Given the description of an element on the screen output the (x, y) to click on. 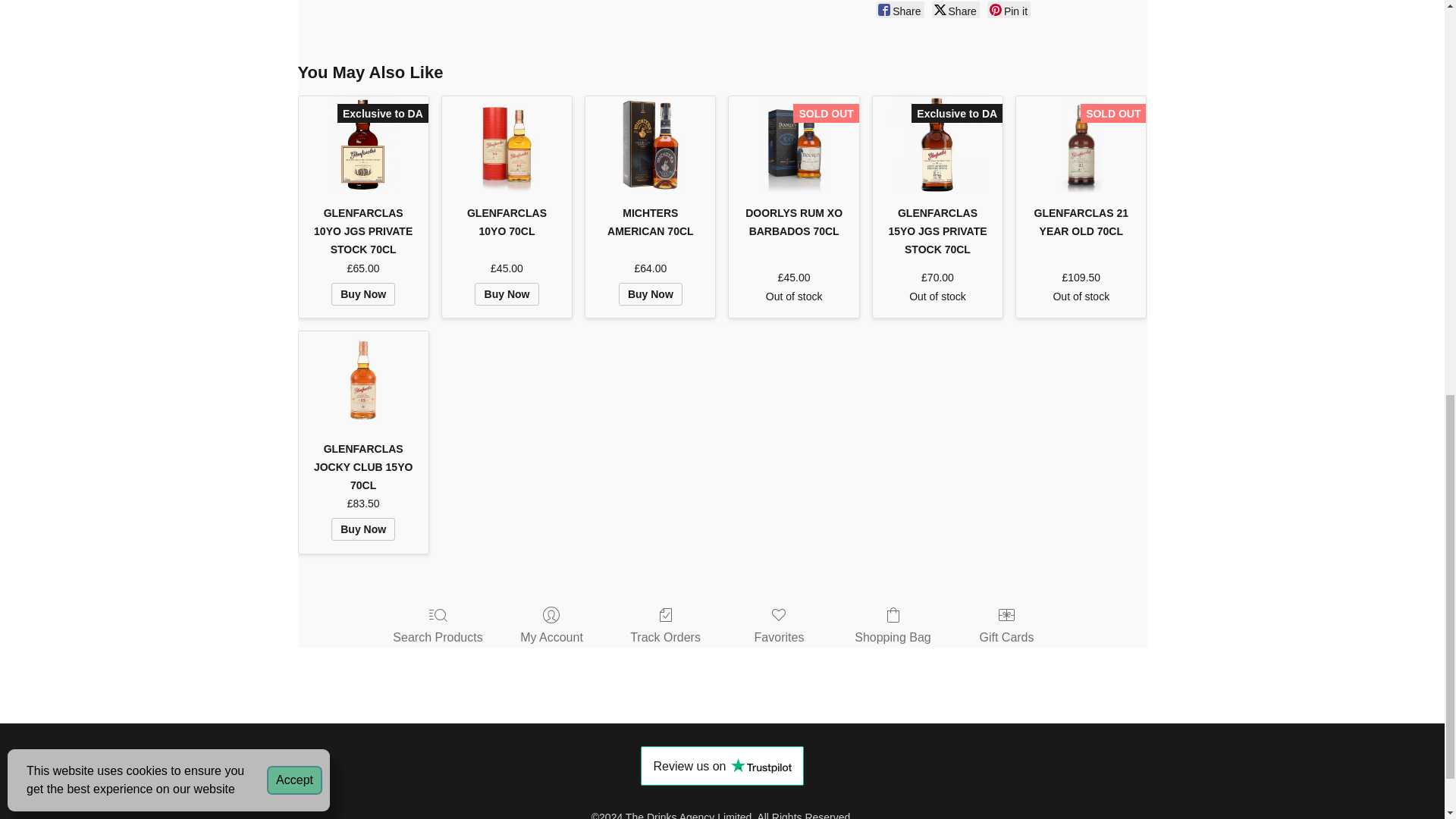
Share (955, 9)
GLENFARCLAS 21 YEAR OLD 70CL (1080, 221)
GLENFARCLAS 10YO 70CL (507, 221)
SOLD OUT (1080, 145)
SOLD OUT (794, 145)
GLENFARCLAS 10YO JGS PRIVATE STOCK 70CL (363, 145)
GLENFARCLAS 15YO JGS PRIVATE STOCK 70CL (937, 145)
GLENFARCLAS 10YO 70CL (507, 145)
Buy Now (650, 293)
GLENFARCLAS 10YO JGS PRIVATE STOCK 70CL (363, 230)
Buy Now (506, 293)
MICHTERS AMERICAN 70CL (649, 221)
Buy Now (362, 293)
DOORLYS RUM XO BARBADOS 70CL (794, 221)
GLENFARCLAS 21 YEAR OLD 70CL (1080, 145)
